Given the description of an element on the screen output the (x, y) to click on. 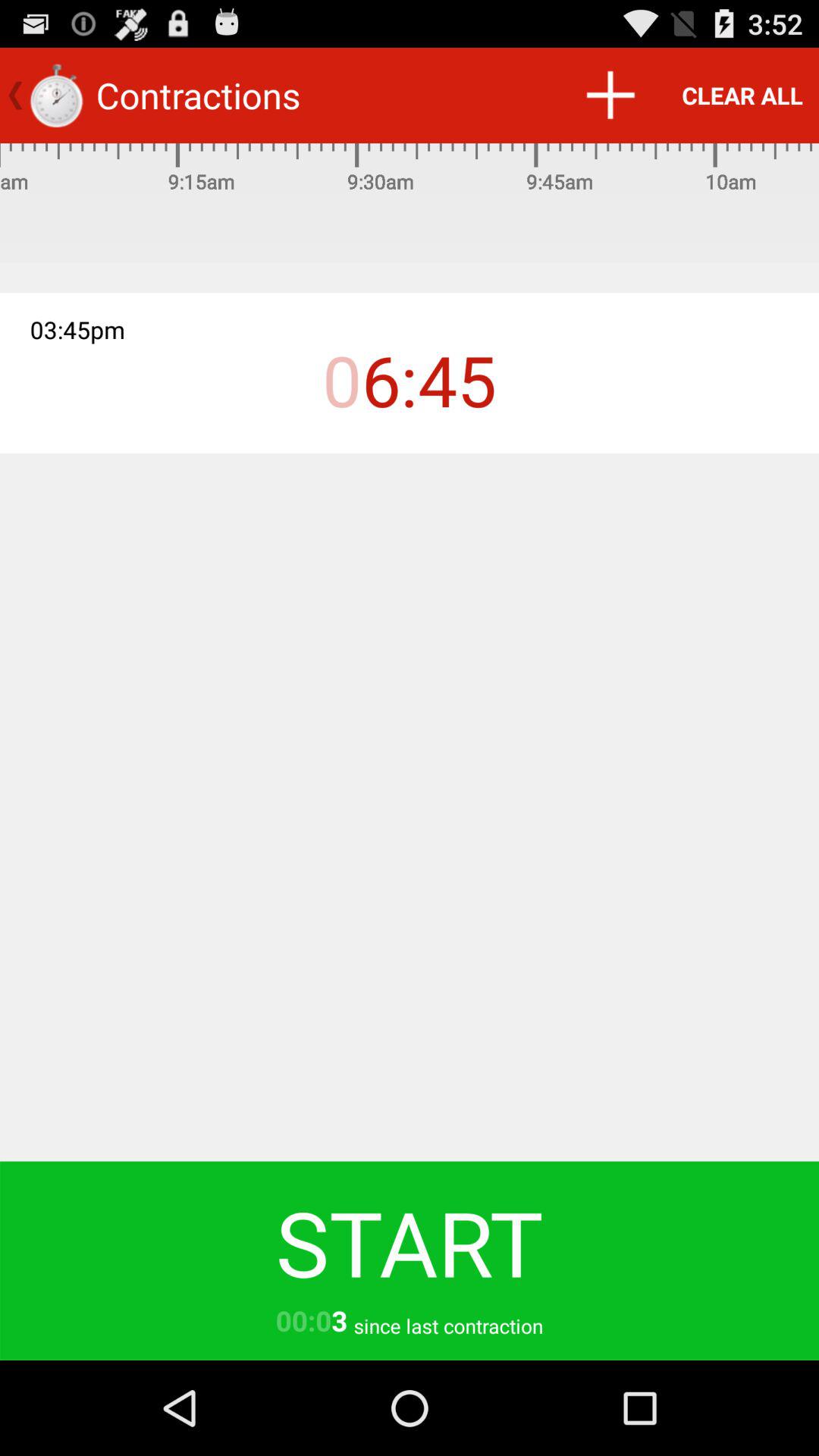
open the item next to contractions icon (610, 95)
